Given the description of an element on the screen output the (x, y) to click on. 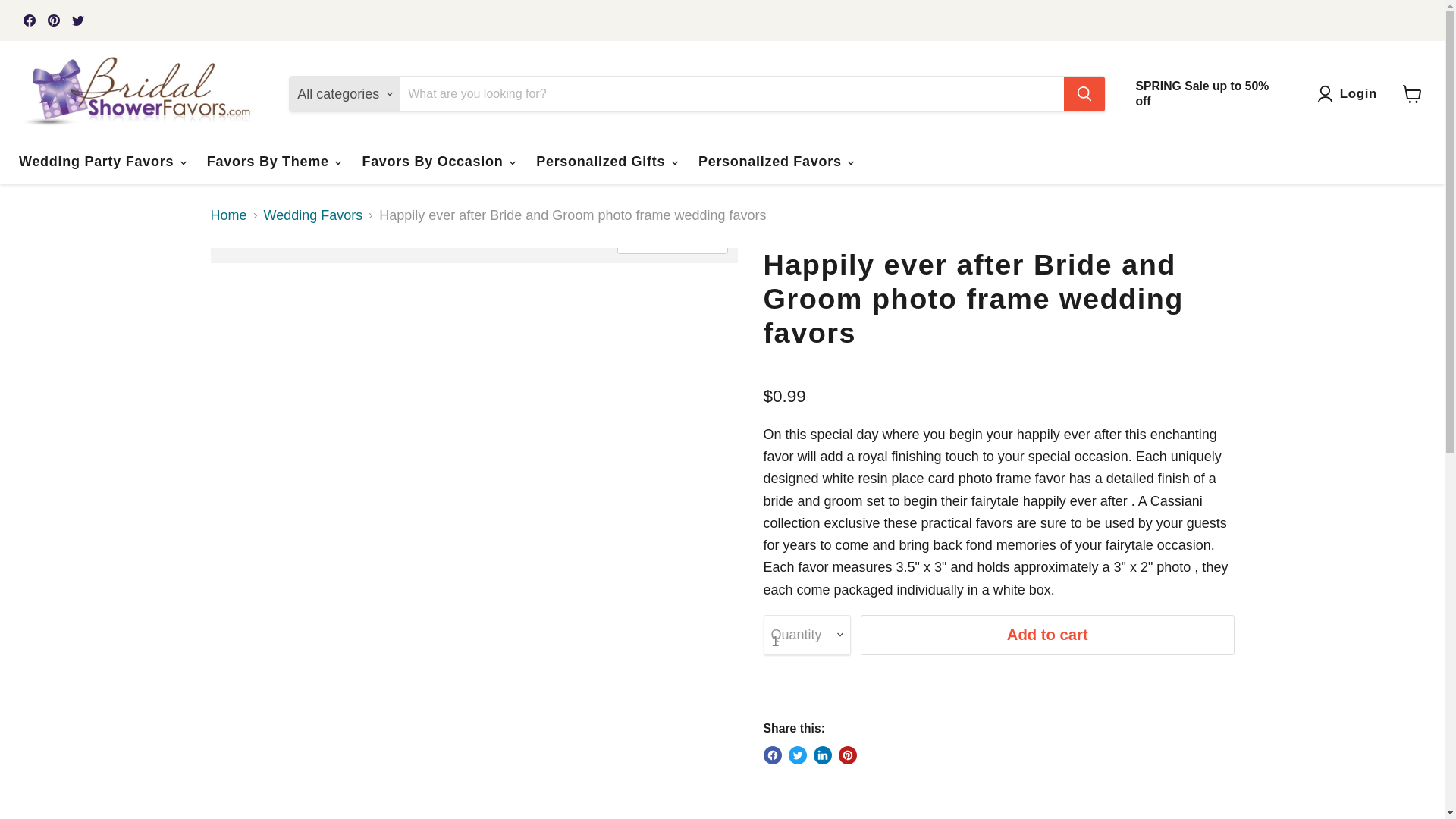
Login (1358, 94)
Find us on Facebook (29, 20)
Find us on Pinterest (53, 20)
Twitter (77, 20)
Facebook (29, 20)
Pinterest (53, 20)
View cart (1411, 93)
Find us on Twitter (77, 20)
